Given the description of an element on the screen output the (x, y) to click on. 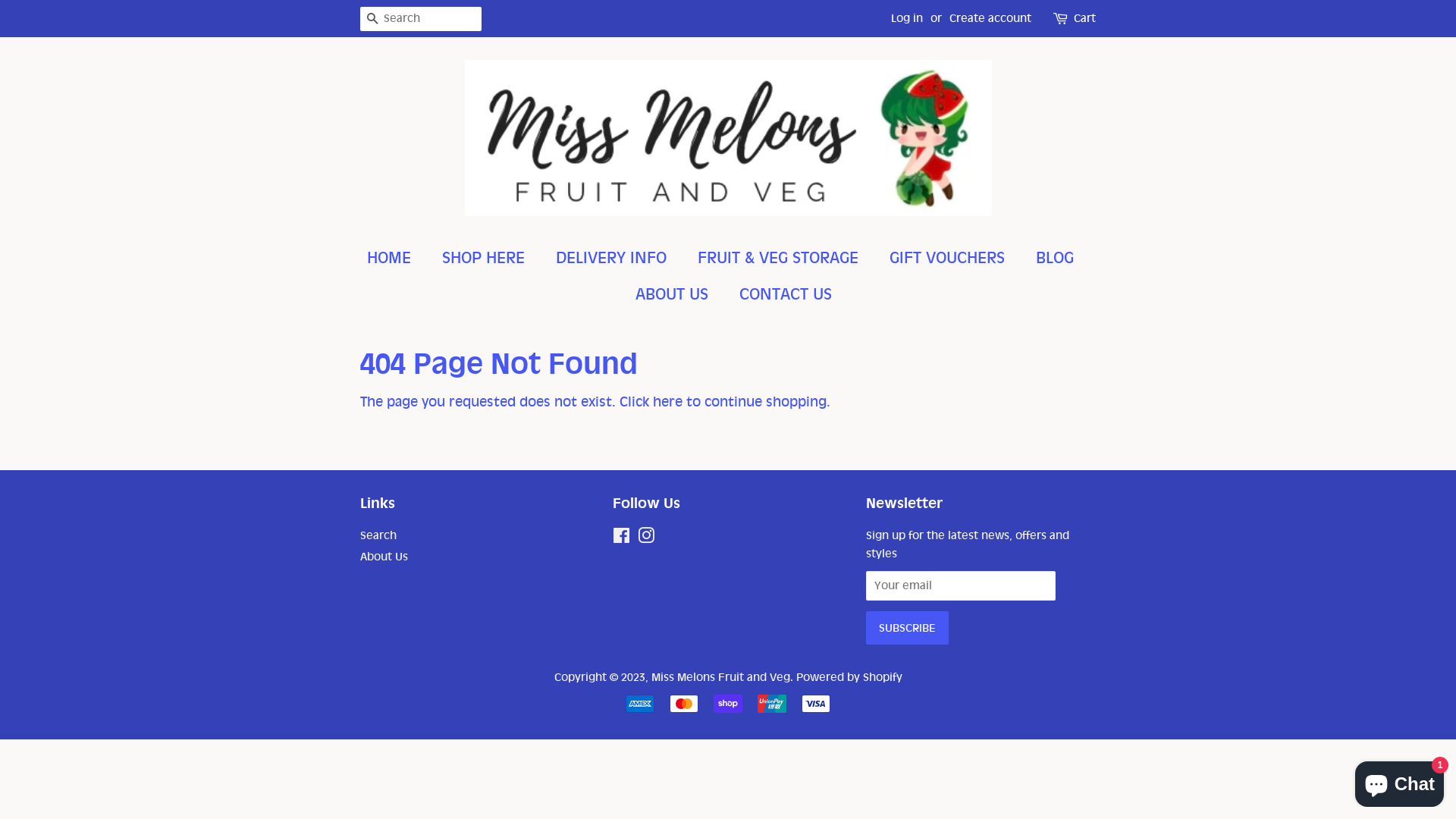
Instagram Element type: text (645, 538)
Log in Element type: text (906, 18)
Cart Element type: text (1084, 18)
Powered by Shopify Element type: text (849, 677)
here Element type: text (667, 401)
Subscribe Element type: text (907, 627)
Create account Element type: text (990, 18)
HOME Element type: text (396, 257)
GIFT VOUCHERS Element type: text (948, 257)
About Us Element type: text (383, 556)
ABOUT US Element type: text (673, 294)
BLOG Element type: text (1056, 257)
CONTACT US Element type: text (779, 294)
FRUIT & VEG STORAGE Element type: text (779, 257)
Miss Melons Fruit and Veg Element type: text (719, 677)
Shopify online store chat Element type: hover (1399, 780)
Search Element type: text (378, 535)
Facebook Element type: text (621, 538)
SEARCH Element type: text (372, 18)
DELIVERY INFO Element type: text (612, 257)
SHOP HERE Element type: text (484, 257)
